Given the description of an element on the screen output the (x, y) to click on. 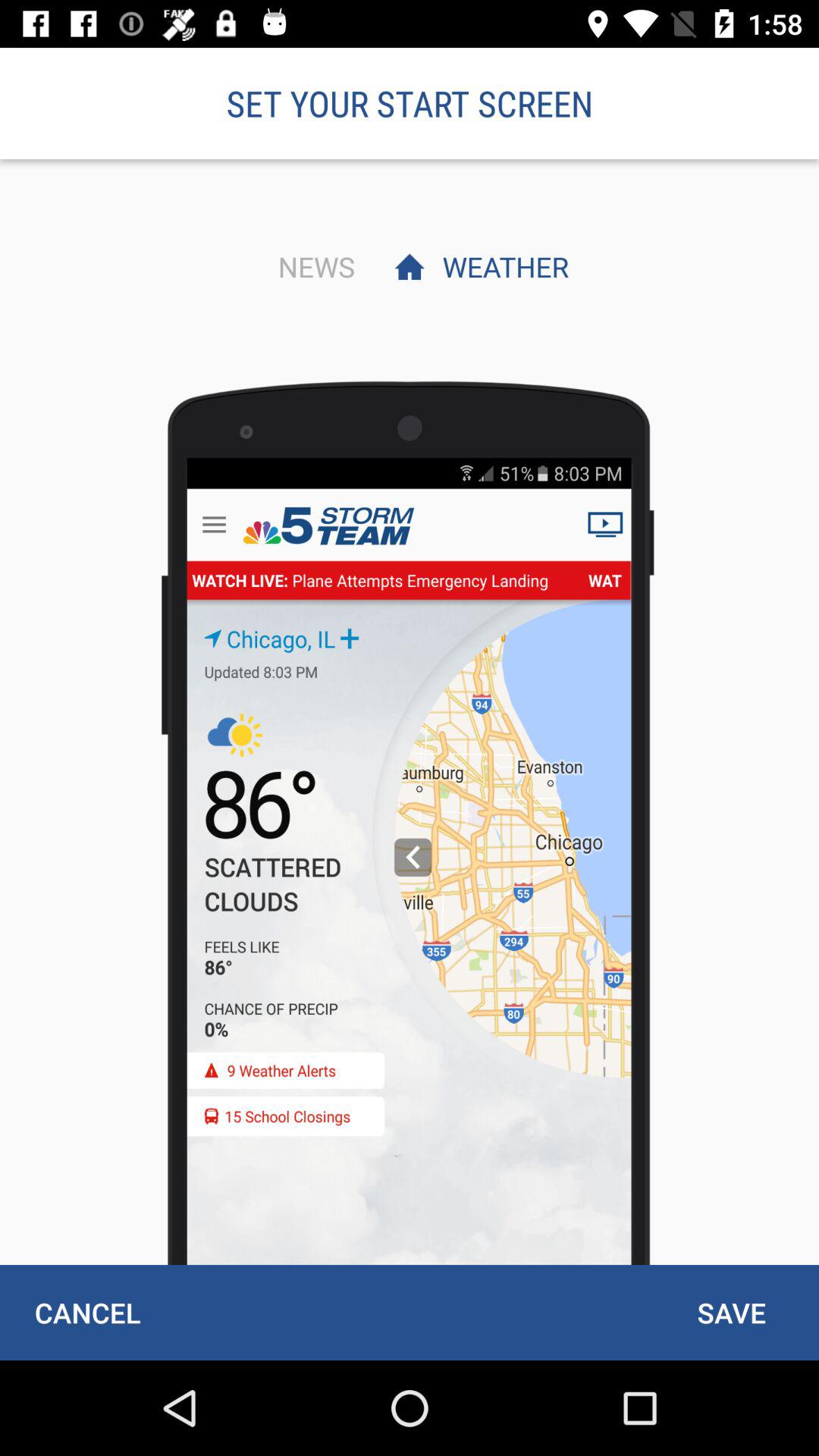
open news item (312, 266)
